Given the description of an element on the screen output the (x, y) to click on. 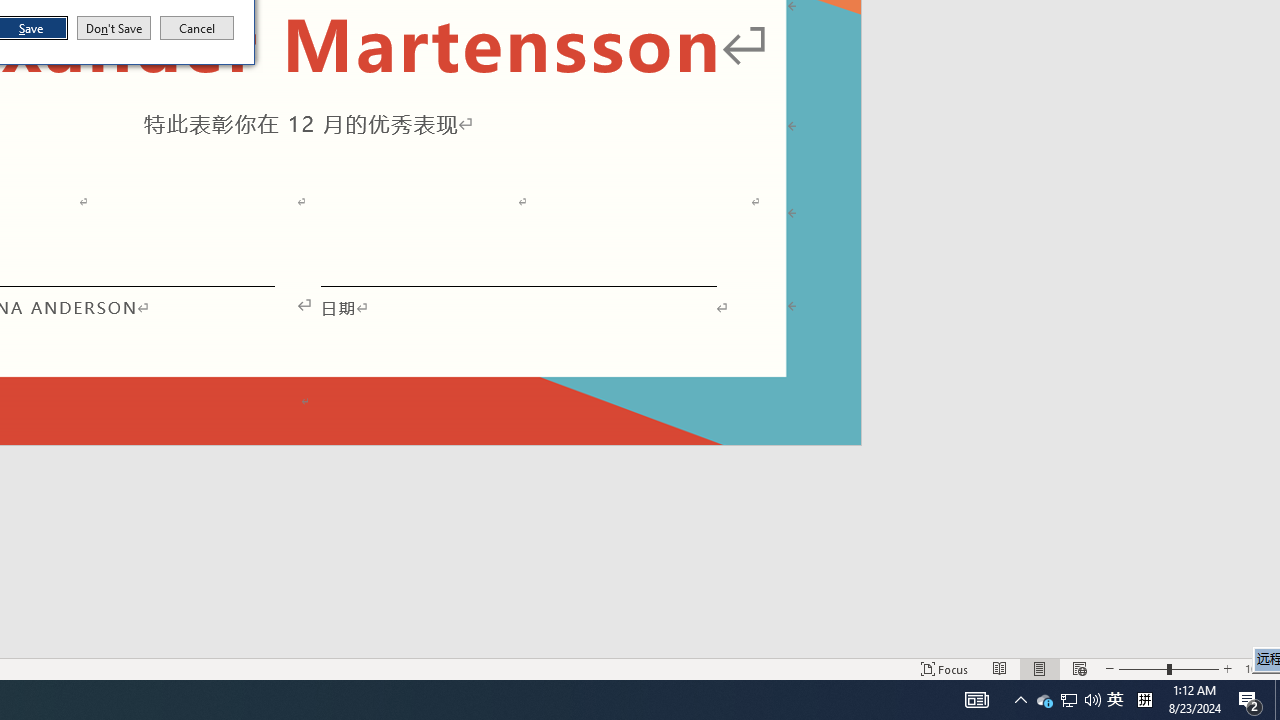
AutomationID: 4105 (976, 699)
User Promoted Notification Area (1068, 699)
Zoom (1168, 668)
Notification Chevron (1020, 699)
Tray Input Indicator - Chinese (Simplified, China) (1069, 699)
